Given the description of an element on the screen output the (x, y) to click on. 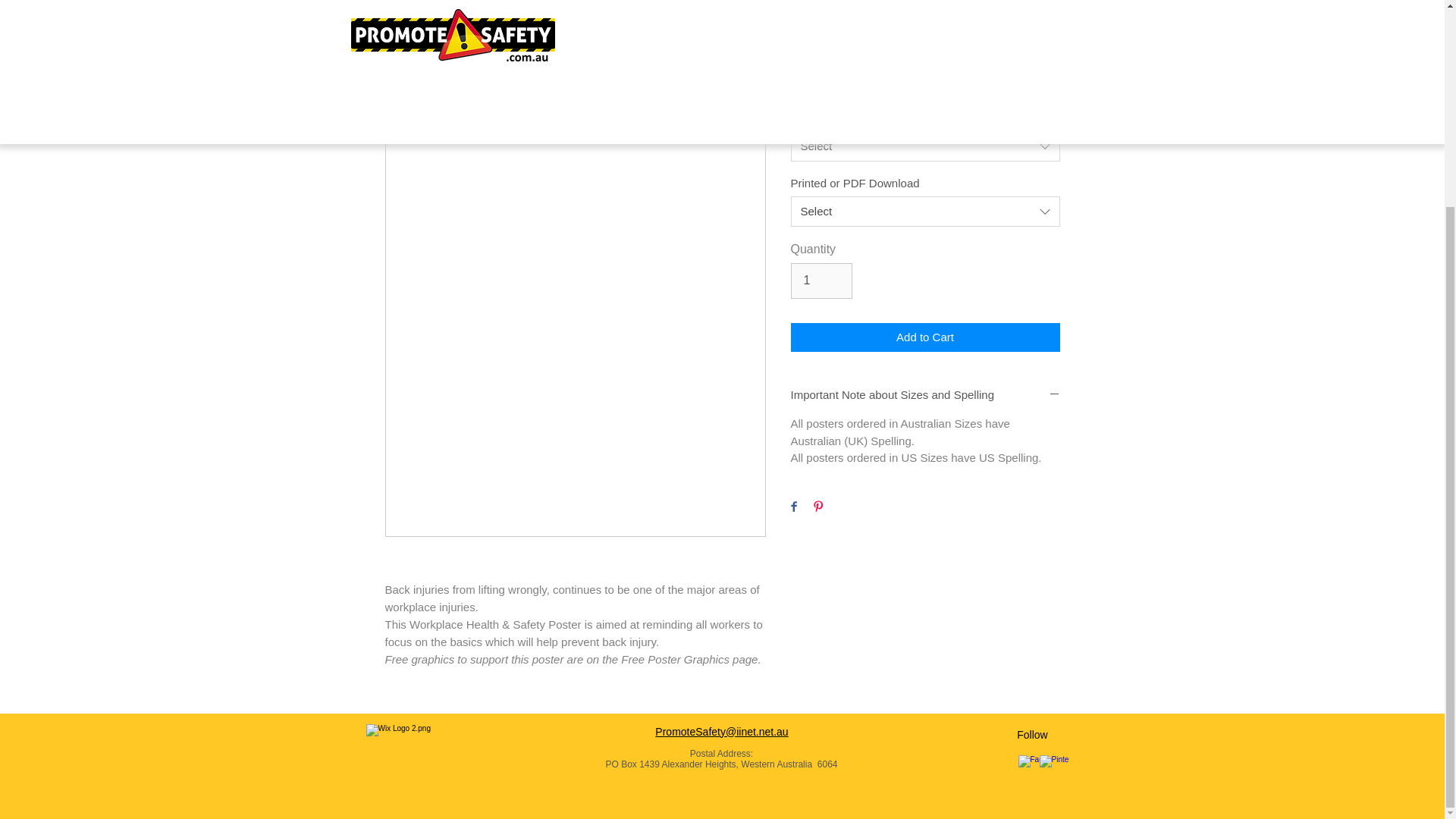
Important Note about Sizes and Spelling (924, 395)
Select (924, 146)
Add to Cart (924, 337)
1 (820, 280)
Select (924, 211)
